Given the description of an element on the screen output the (x, y) to click on. 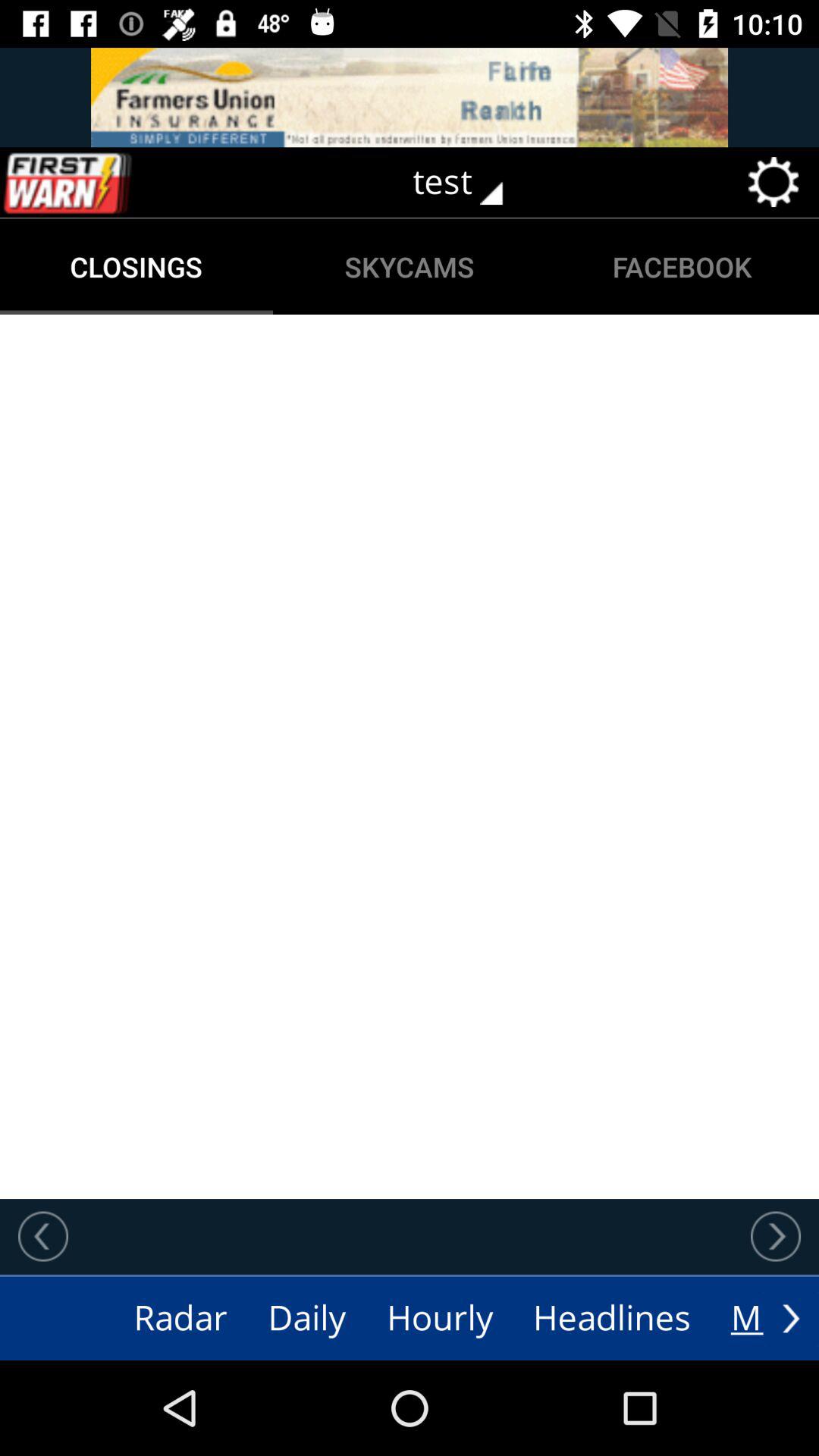
open first warn menu (99, 182)
